Given the description of an element on the screen output the (x, y) to click on. 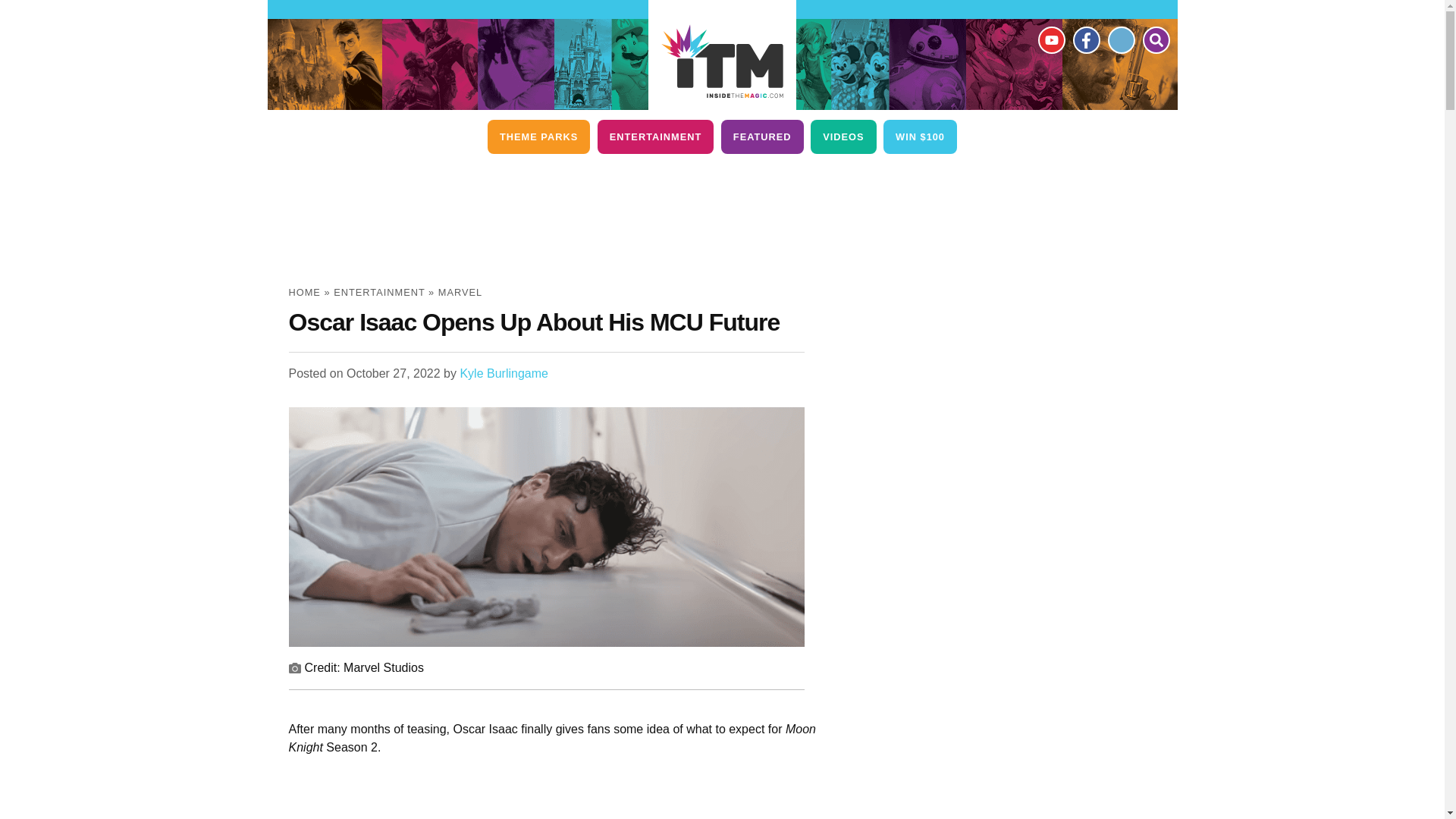
Twitter (1120, 40)
ENTERTAINMENT (655, 136)
Facebook (1085, 40)
FEATURED (761, 136)
Search (1155, 40)
THEME PARKS (538, 136)
YouTube (1050, 40)
